Given the description of an element on the screen output the (x, y) to click on. 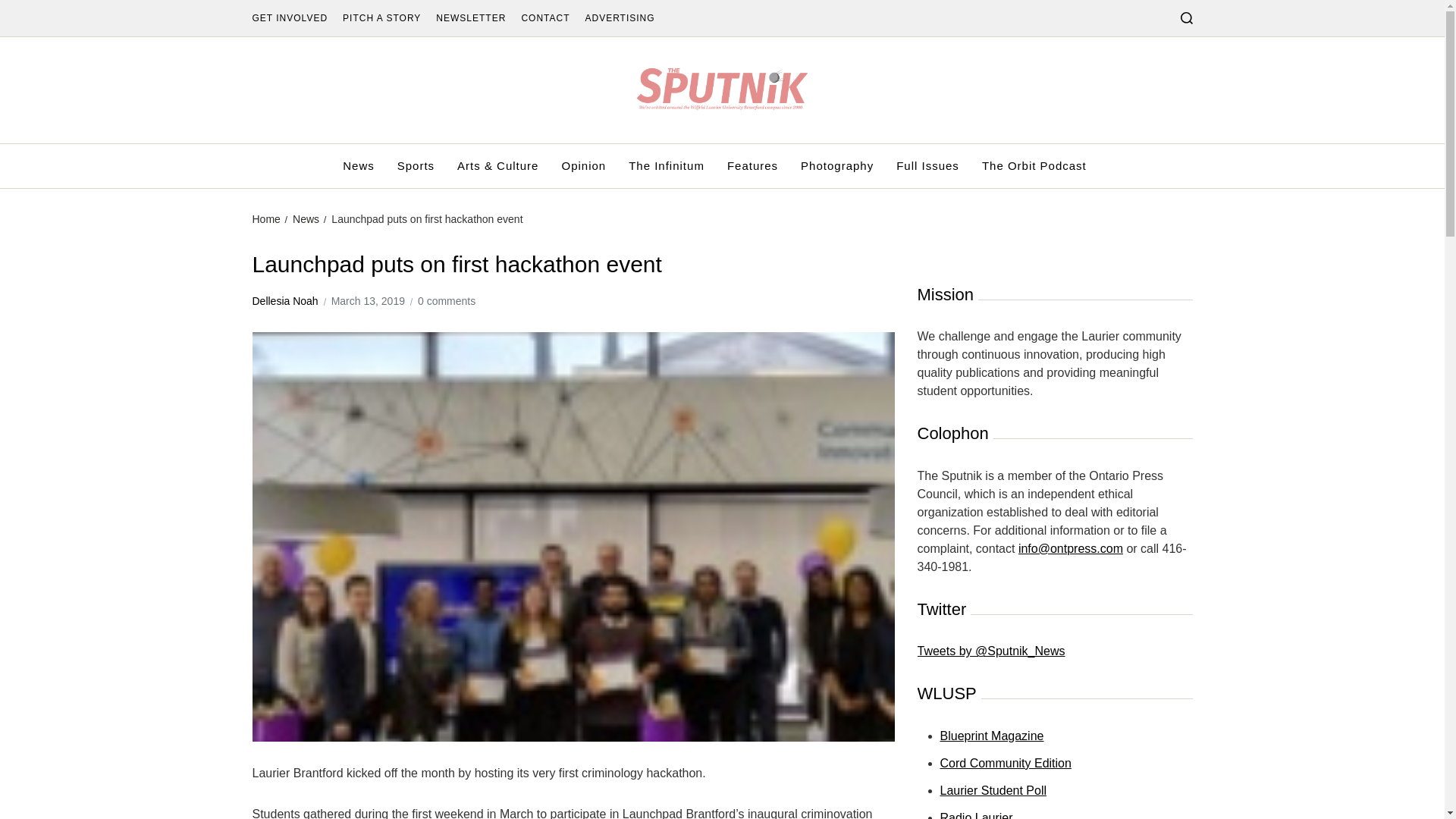
CONTACT (545, 18)
The Orbit Podcast (1033, 166)
NEWSLETTER (470, 18)
PITCH A STORY (381, 18)
Opinion (582, 166)
Cord Community Edition (1005, 762)
News (305, 218)
ADVERTISING (619, 18)
The Infinitum (666, 166)
Blueprint Magazine (991, 735)
